Given the description of an element on the screen output the (x, y) to click on. 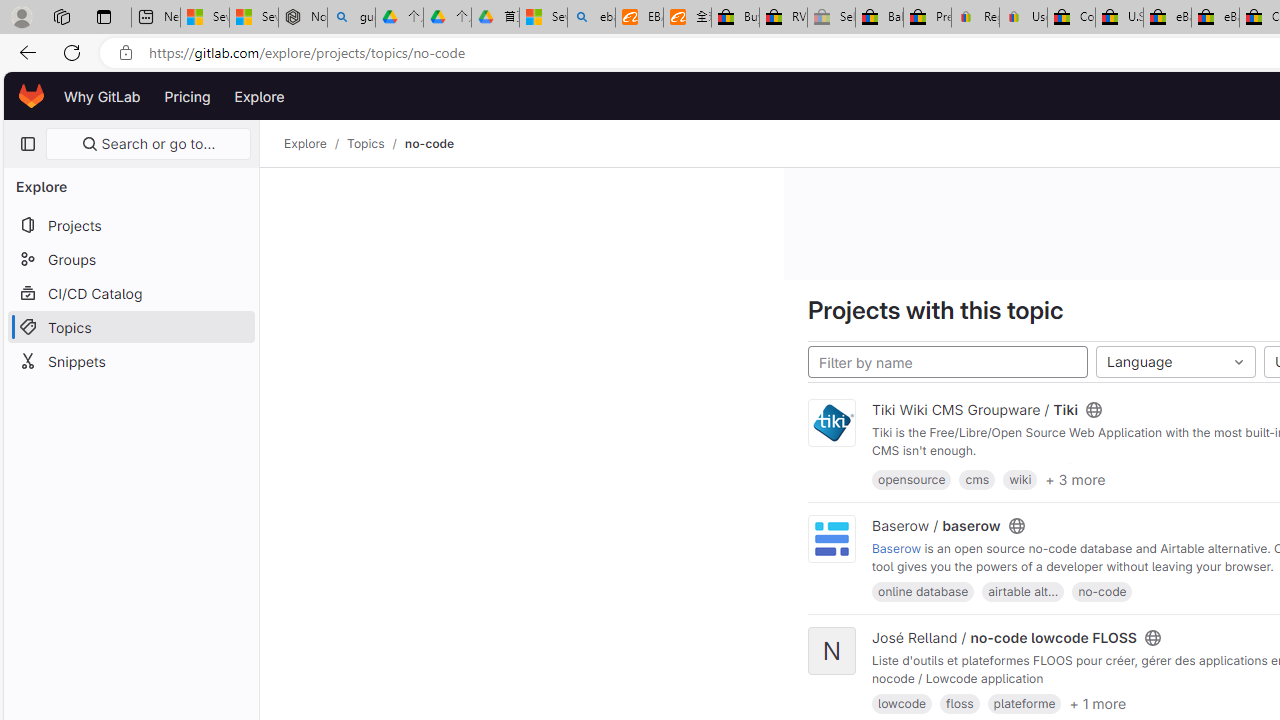
User Privacy Notice | eBay (1023, 17)
floss (959, 703)
Tiki Wiki CMS Groupware / Tiki (975, 410)
+ 1 more (1097, 702)
online database (923, 591)
Projects (130, 224)
Pricing (187, 95)
Sell worldwide with eBay - Sleeping (831, 17)
Snippets (130, 360)
Explore (305, 143)
Consumer Health Data Privacy Policy - eBay Inc. (1071, 17)
